Given the description of an element on the screen output the (x, y) to click on. 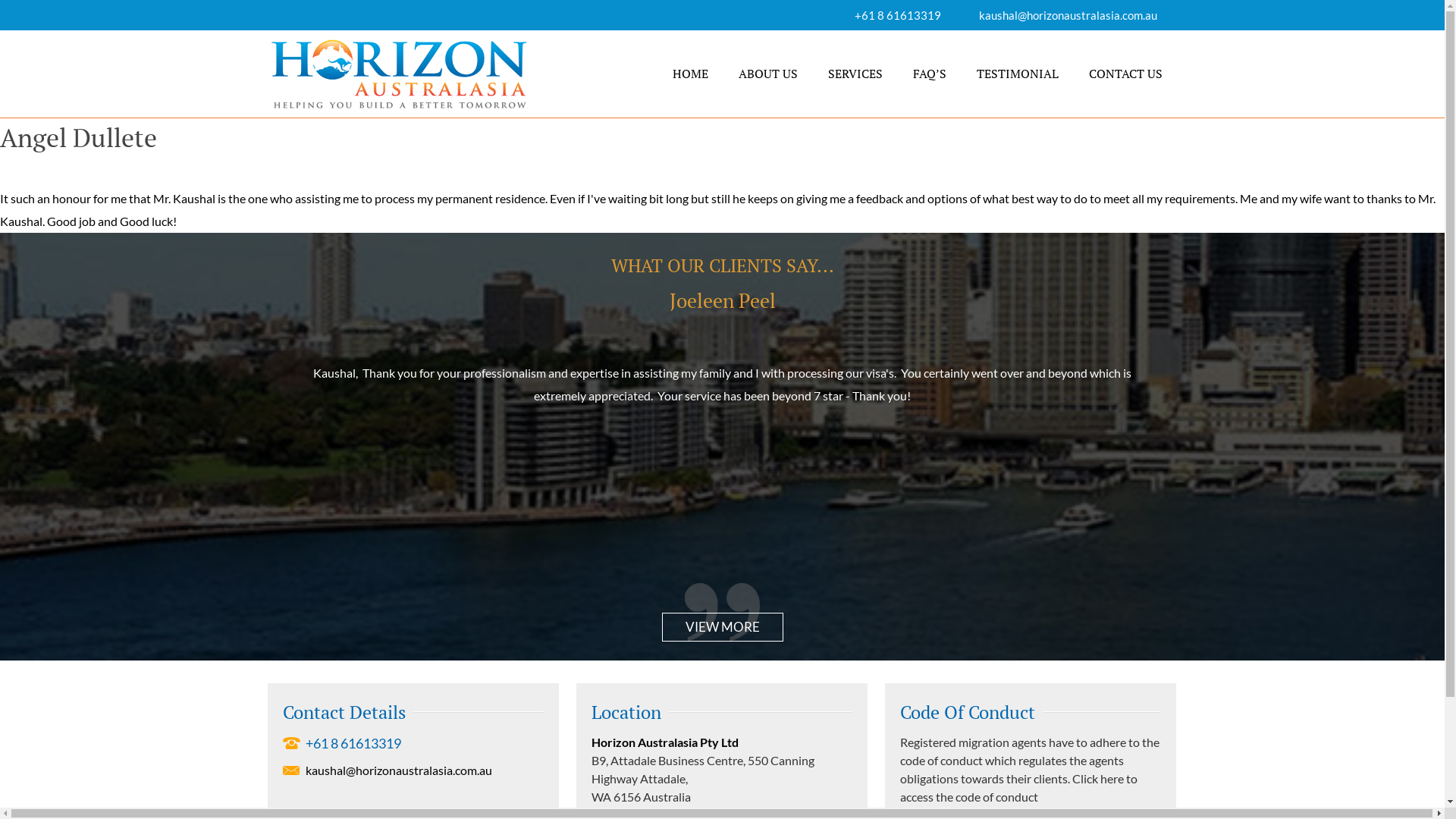
kaushal@horizonaustralasia.com.au Element type: text (412, 770)
+61 8 61613319 Element type: text (896, 14)
VIEW MORE Element type: text (721, 626)
Skip to content Element type: text (0, 0)
SERVICES Element type: text (854, 73)
TESTIMONIAL Element type: text (1017, 73)
Horizon Australasia Element type: text (321, 51)
kaushal@horizonaustralasia.com.au Element type: text (1067, 14)
ABOUT US Element type: text (767, 73)
CONTACT US Element type: text (1125, 73)
HOME Element type: text (689, 73)
